Given the description of an element on the screen output the (x, y) to click on. 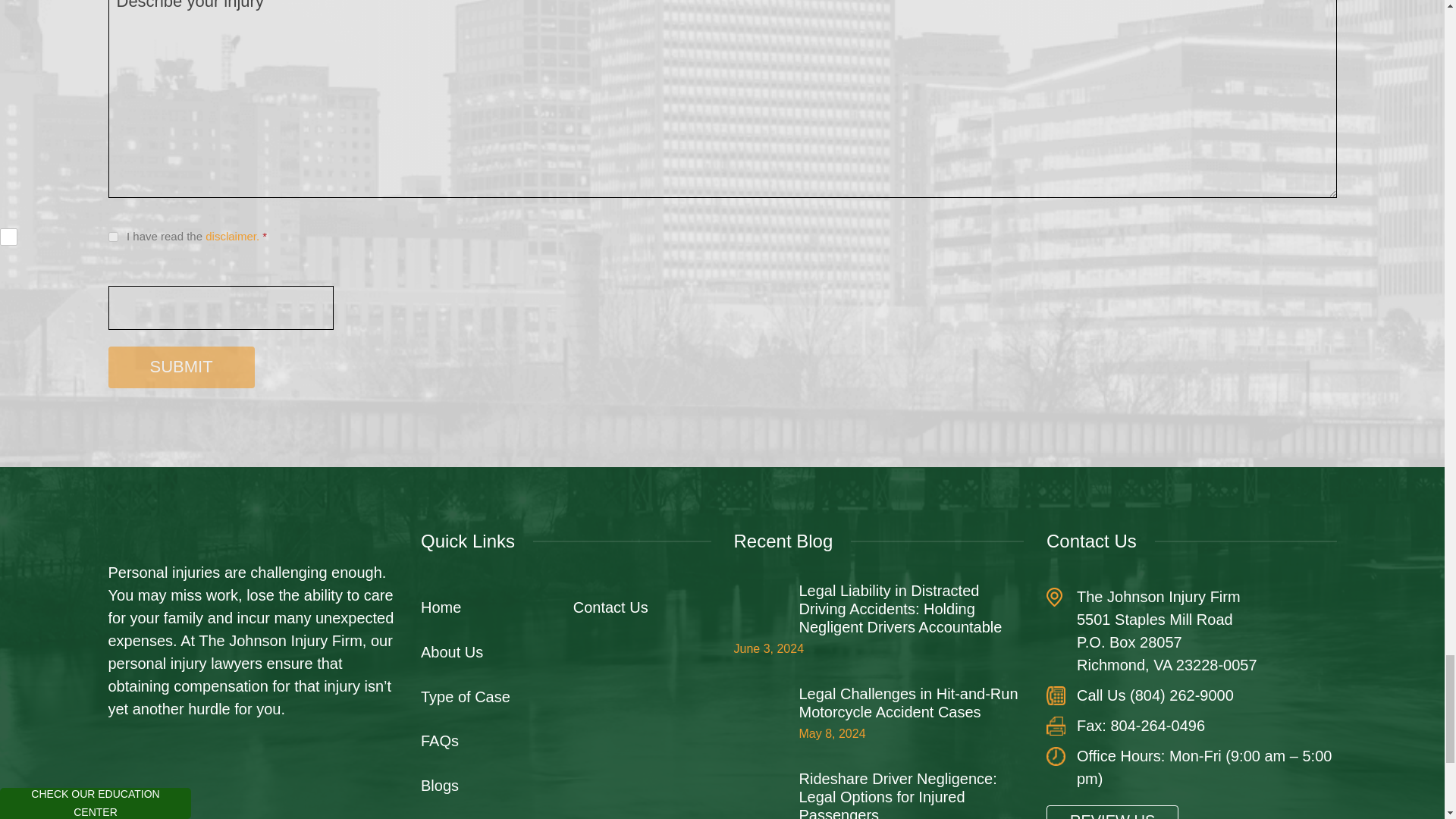
Submit (180, 367)
